Given the description of an element on the screen output the (x, y) to click on. 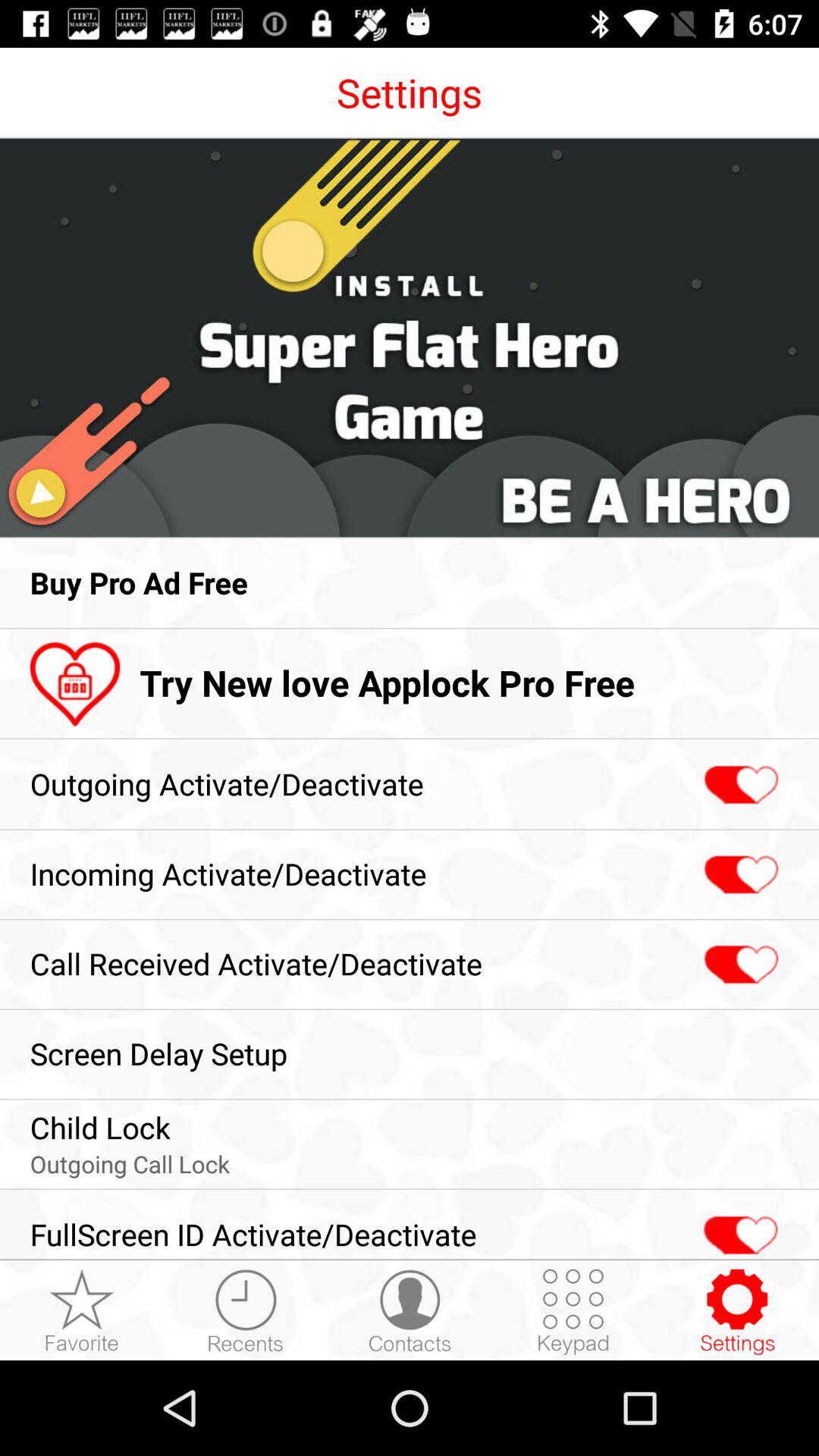
fullscreen activating and deactivating button (738, 1227)
